Given the description of an element on the screen output the (x, y) to click on. 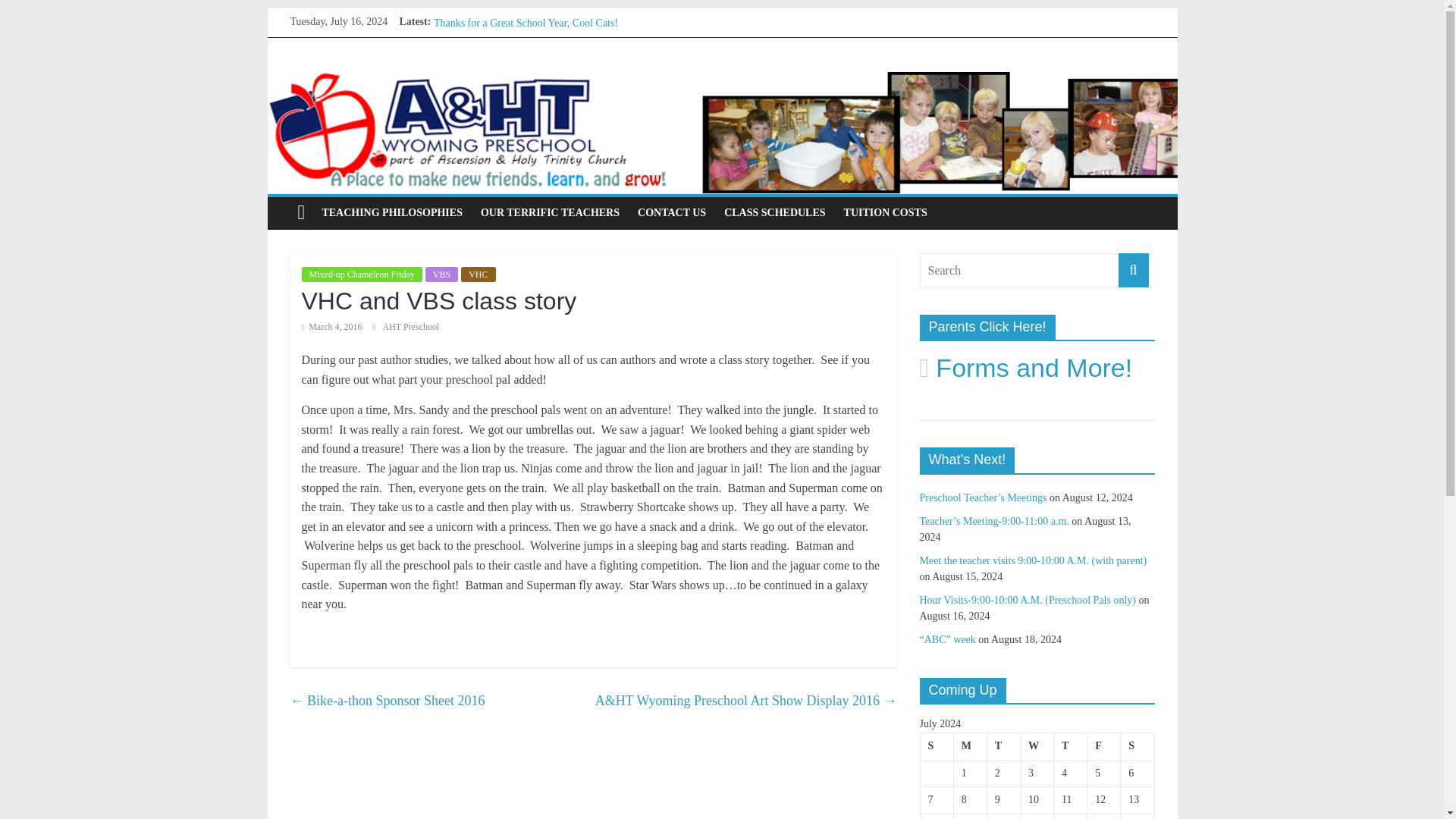
VBS (441, 273)
Wednesday (1036, 746)
TEACHING PHILOSOPHIES (392, 213)
AHT Preschool (410, 326)
Thursday (1070, 746)
Weekly Round-up-May 15th-August 19th, 2024 (535, 74)
Happy 5th Birthday, Amari! (493, 40)
Happy 5th Birthday, Amari! (493, 40)
Happy 5th Birthday, Eleanor! (496, 57)
Weekly Round-up-May 15th-August 19th, 2024 (535, 74)
Forms and More! (1025, 367)
TUITION COSTS (885, 213)
AHT Preschool (410, 326)
Saturday (1137, 746)
OUR TERRIFIC TEACHERS (549, 213)
